Given the description of an element on the screen output the (x, y) to click on. 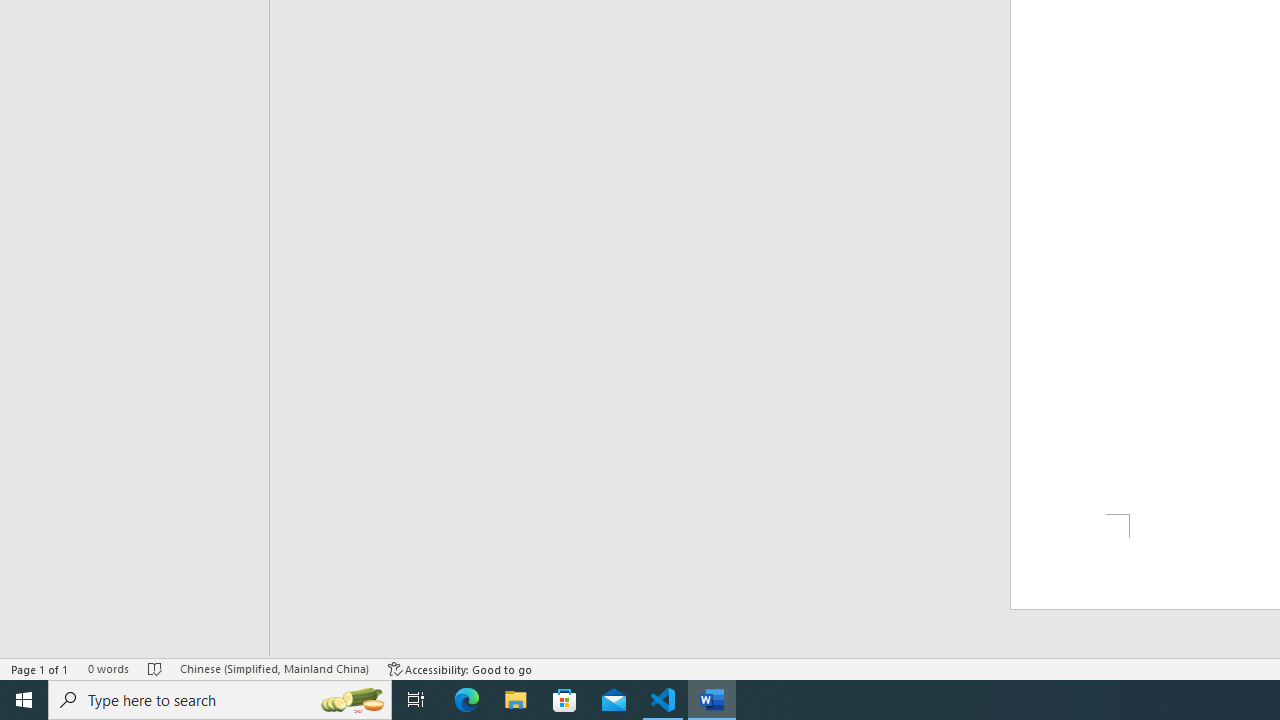
Language Chinese (Simplified, Mainland China) (274, 668)
Spelling and Grammar Check No Errors (155, 668)
Accessibility Checker Accessibility: Good to go (460, 668)
Page Number Page 1 of 1 (39, 668)
